Given the description of an element on the screen output the (x, y) to click on. 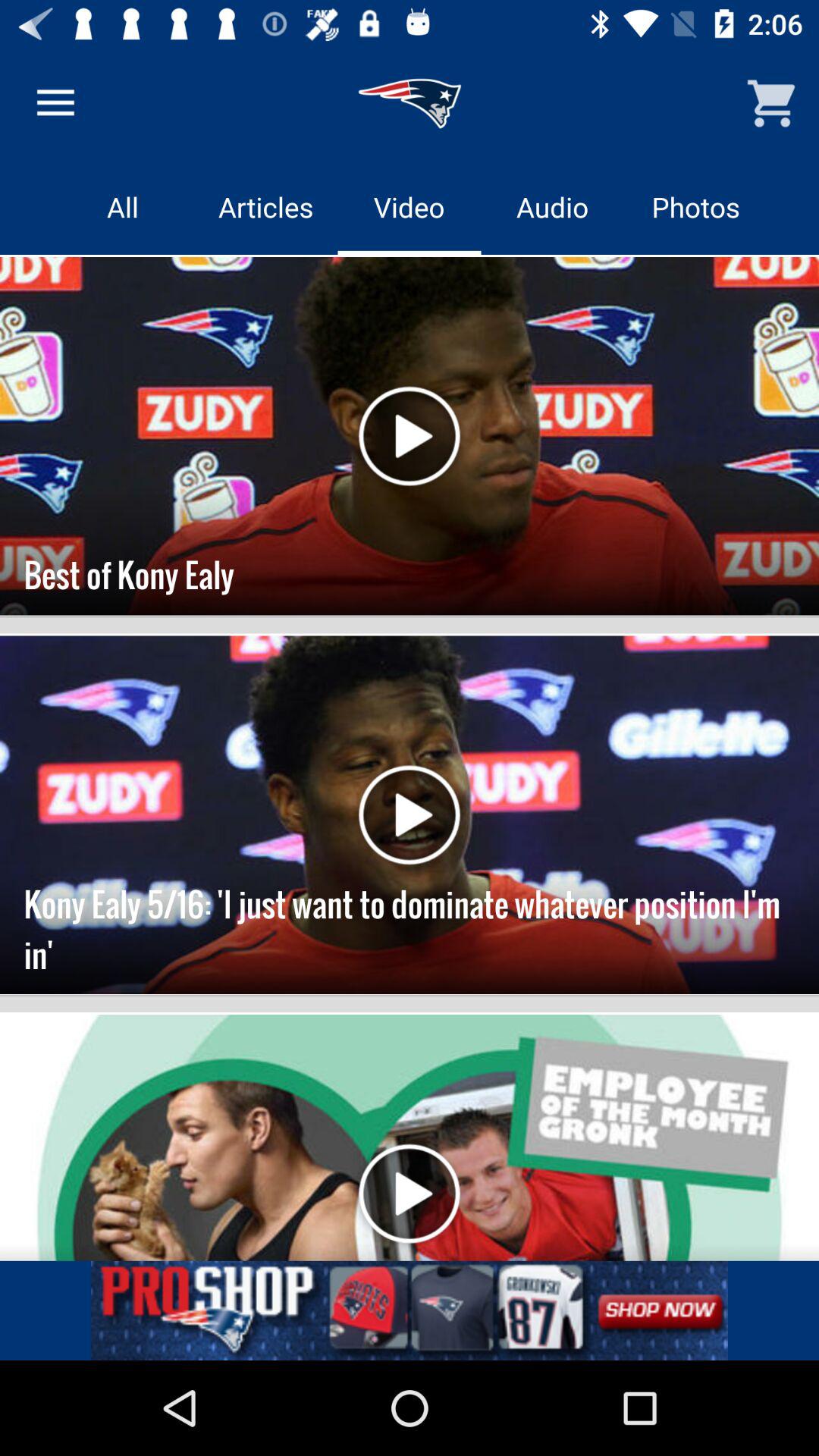
linked button (409, 1310)
